Given the description of an element on the screen output the (x, y) to click on. 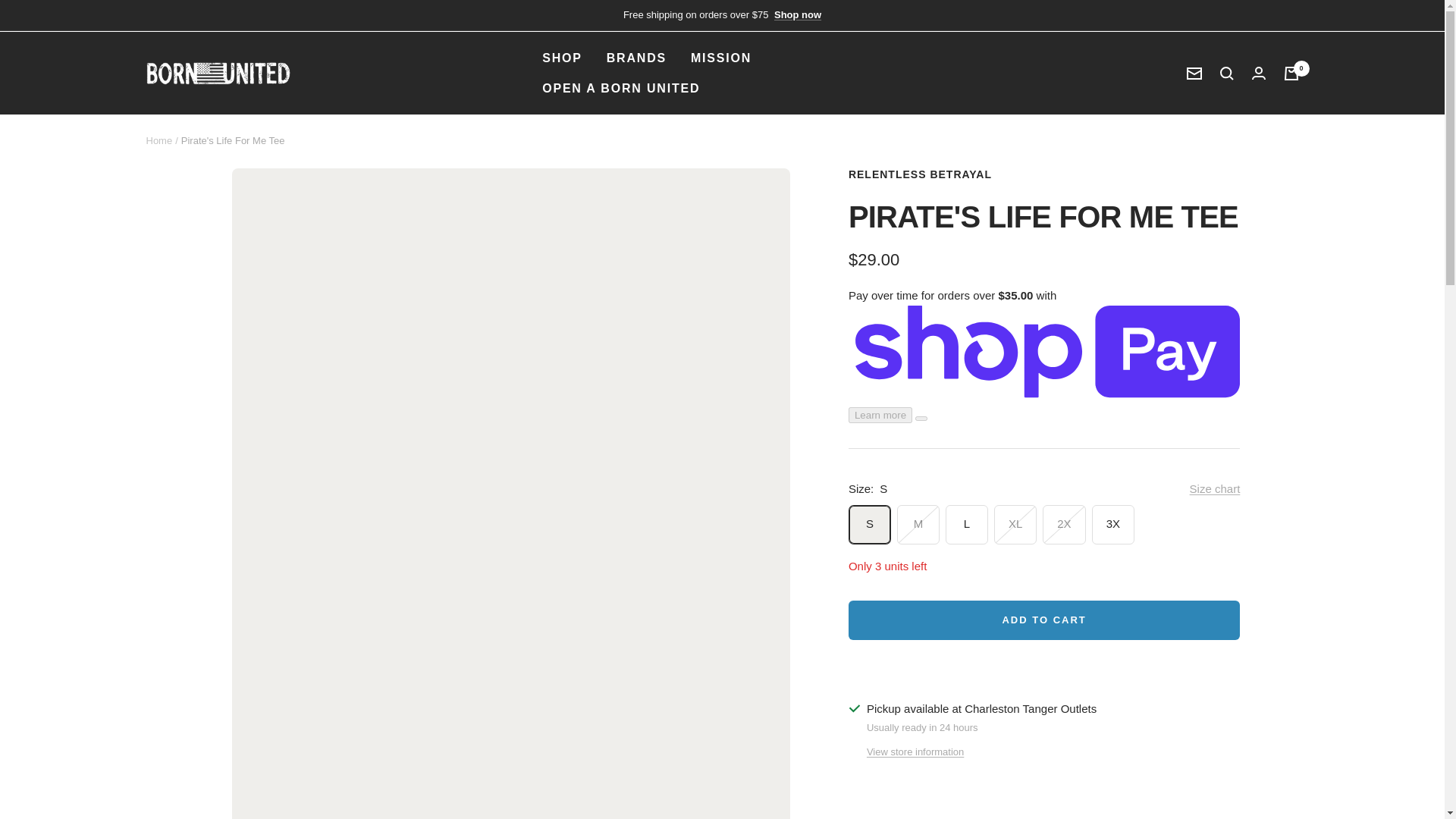
View store information (914, 752)
Newsletter (1194, 73)
SHOP (561, 57)
Size chart (1214, 488)
MISSION (720, 57)
BRANDS (636, 57)
0 (1291, 73)
Home (158, 140)
RELENTLESS BETRAYAL (919, 174)
Shop now (797, 14)
